Given the description of an element on the screen output the (x, y) to click on. 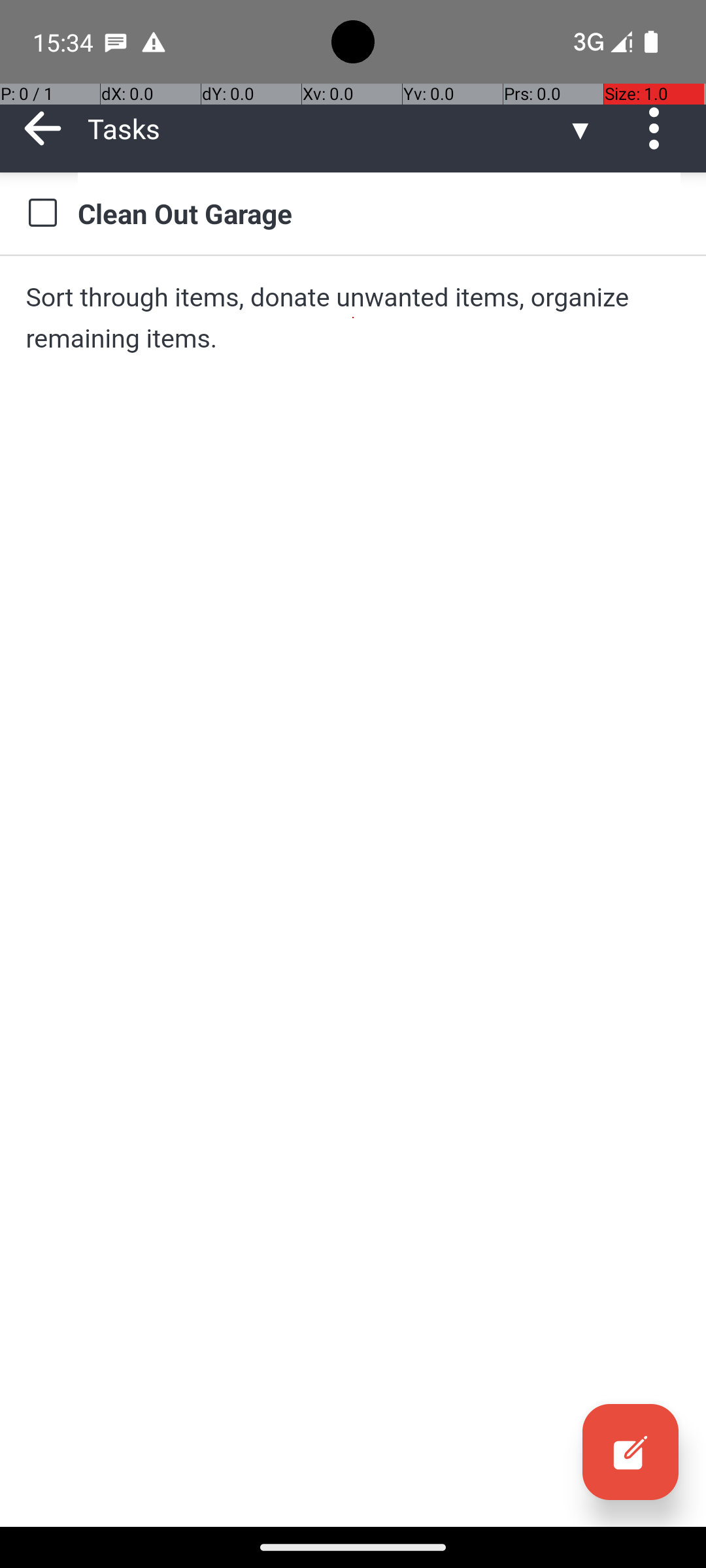
Clean Out Garage Element type: android.widget.EditText (378, 213)
Tasks Element type: android.widget.TextView (326, 128)
Sort through items, donate unwanted items, organize remaining items. Element type: android.widget.TextView (352, 317)
